Given the description of an element on the screen output the (x, y) to click on. 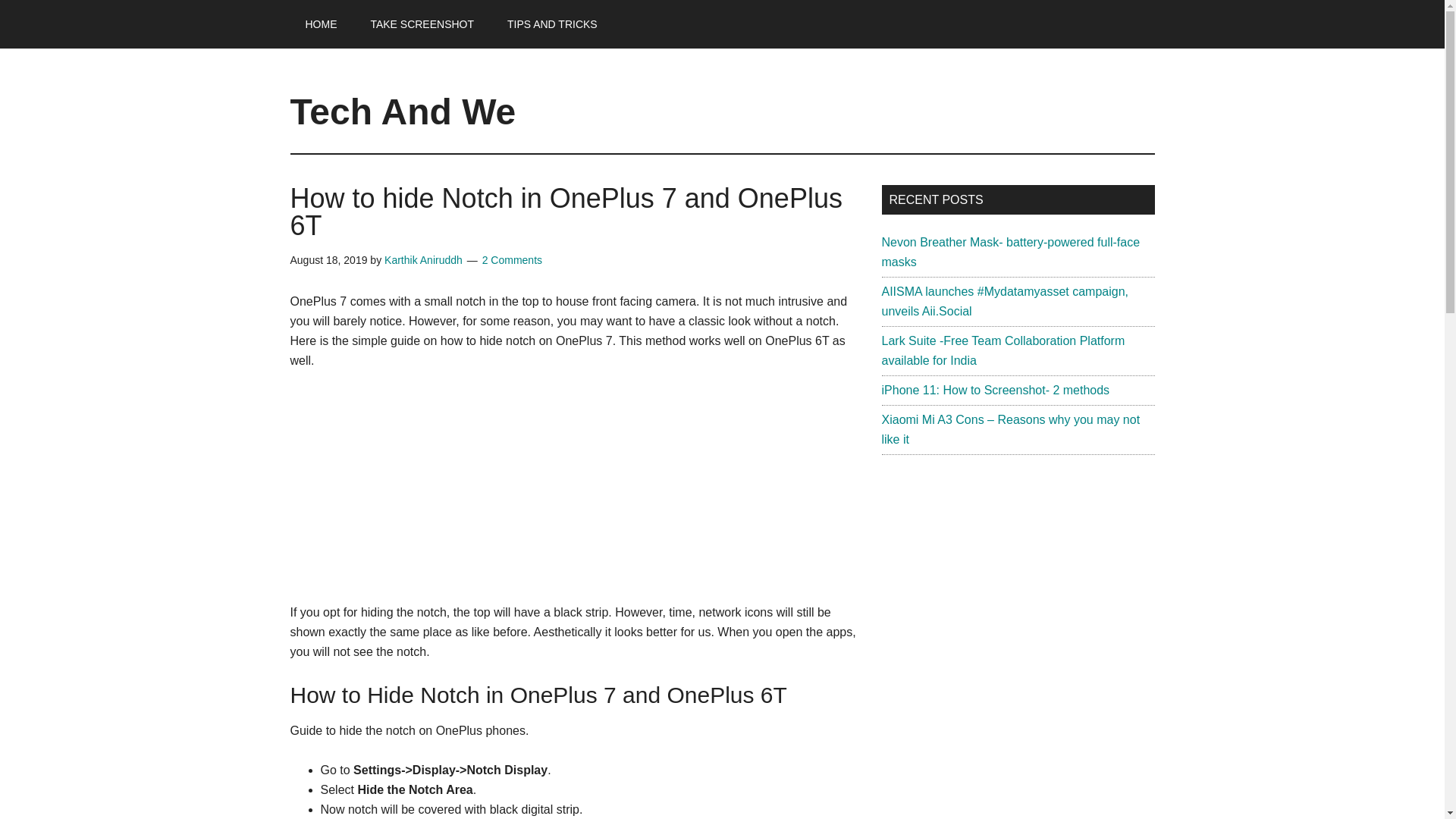
HOME (320, 24)
TIPS AND TRICKS (552, 24)
Advertisement (574, 496)
TAKE SCREENSHOT (422, 24)
Karthik Aniruddh (423, 259)
iPhone 11: How to Screenshot- 2 methods (994, 390)
Nevon Breather Mask- battery-powered full-face masks (1010, 251)
Tech And We (402, 111)
2 Comments (511, 259)
